Given the description of an element on the screen output the (x, y) to click on. 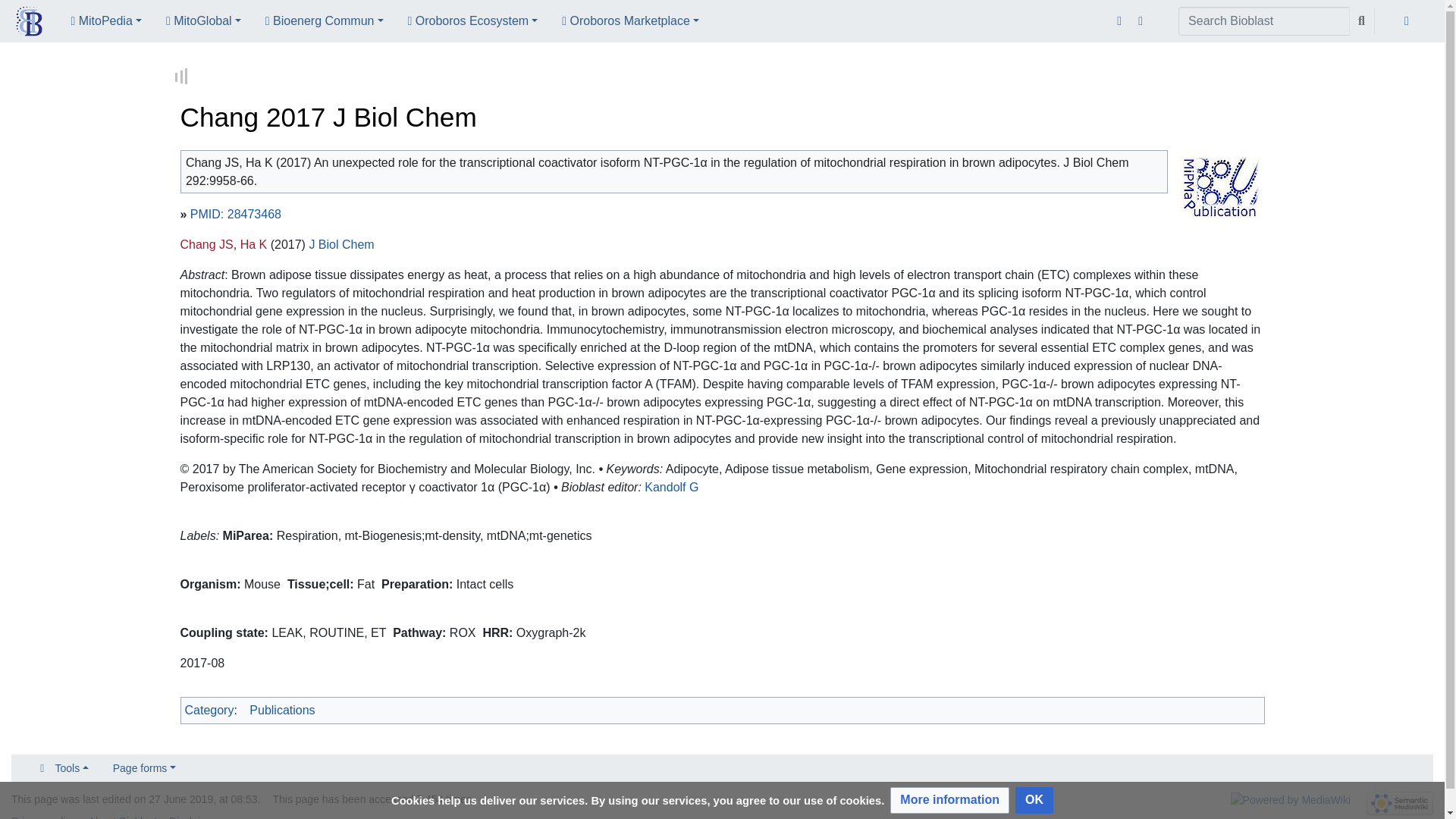
Publications in the MiPMap (1219, 184)
Special:Categories (209, 707)
Category:Publications (281, 707)
Go (1361, 21)
Kandolf G (671, 485)
Go to a page with this exact name if it exists (1361, 21)
J Biol Chem (341, 242)
Visit the main page (28, 22)
